Given the description of an element on the screen output the (x, y) to click on. 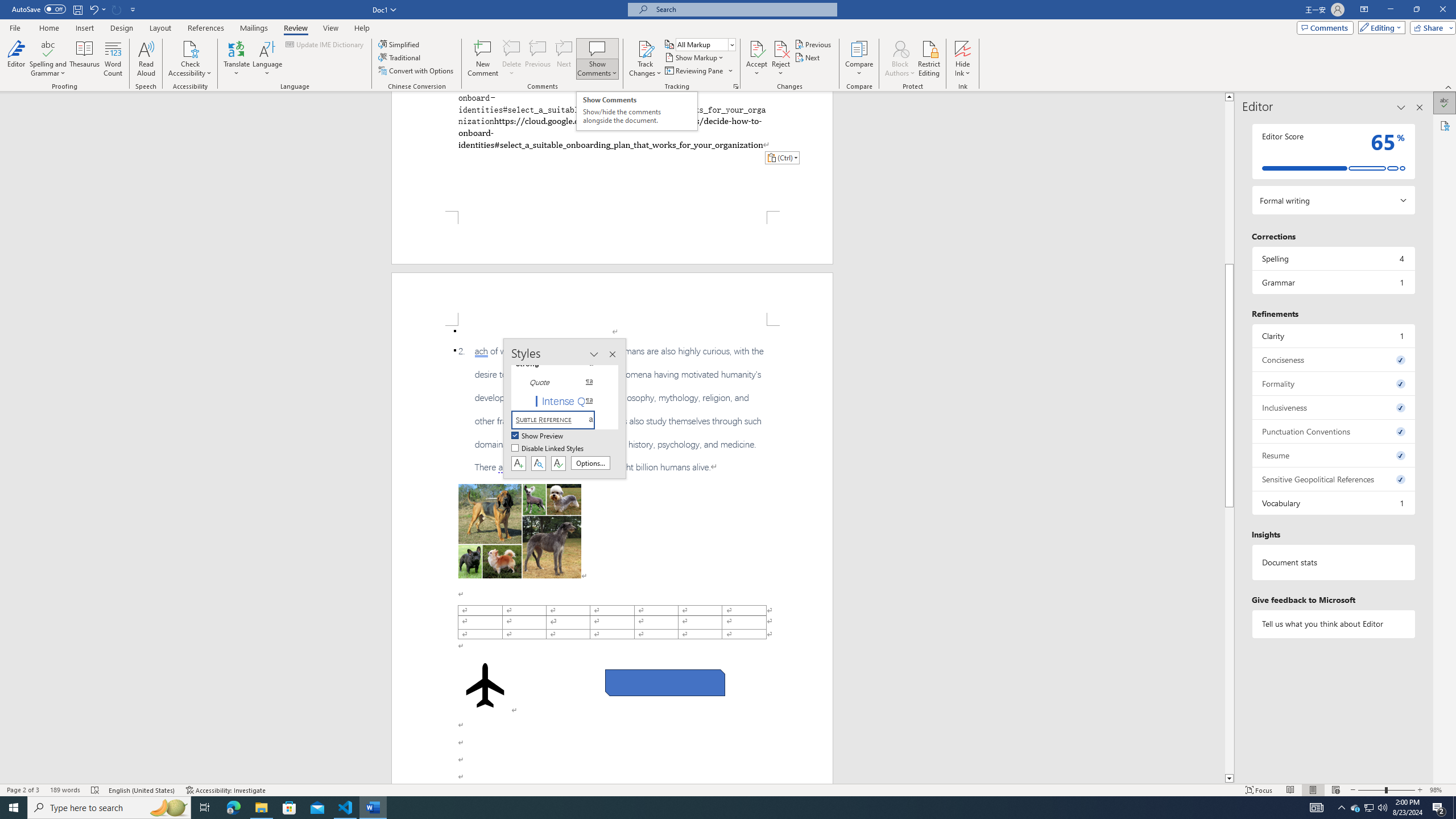
Line down (1229, 778)
Spelling and Grammar (48, 48)
Compare (859, 58)
Spelling, 4 issues. Press space or enter to review items. (1333, 258)
Footer -Section 1- (611, 237)
Editing (1379, 27)
New Comment (482, 58)
Disable Linked Styles (548, 448)
Check Accessibility (189, 48)
Update IME Dictionary... (324, 44)
Reviewing Pane (694, 69)
